Given the description of an element on the screen output the (x, y) to click on. 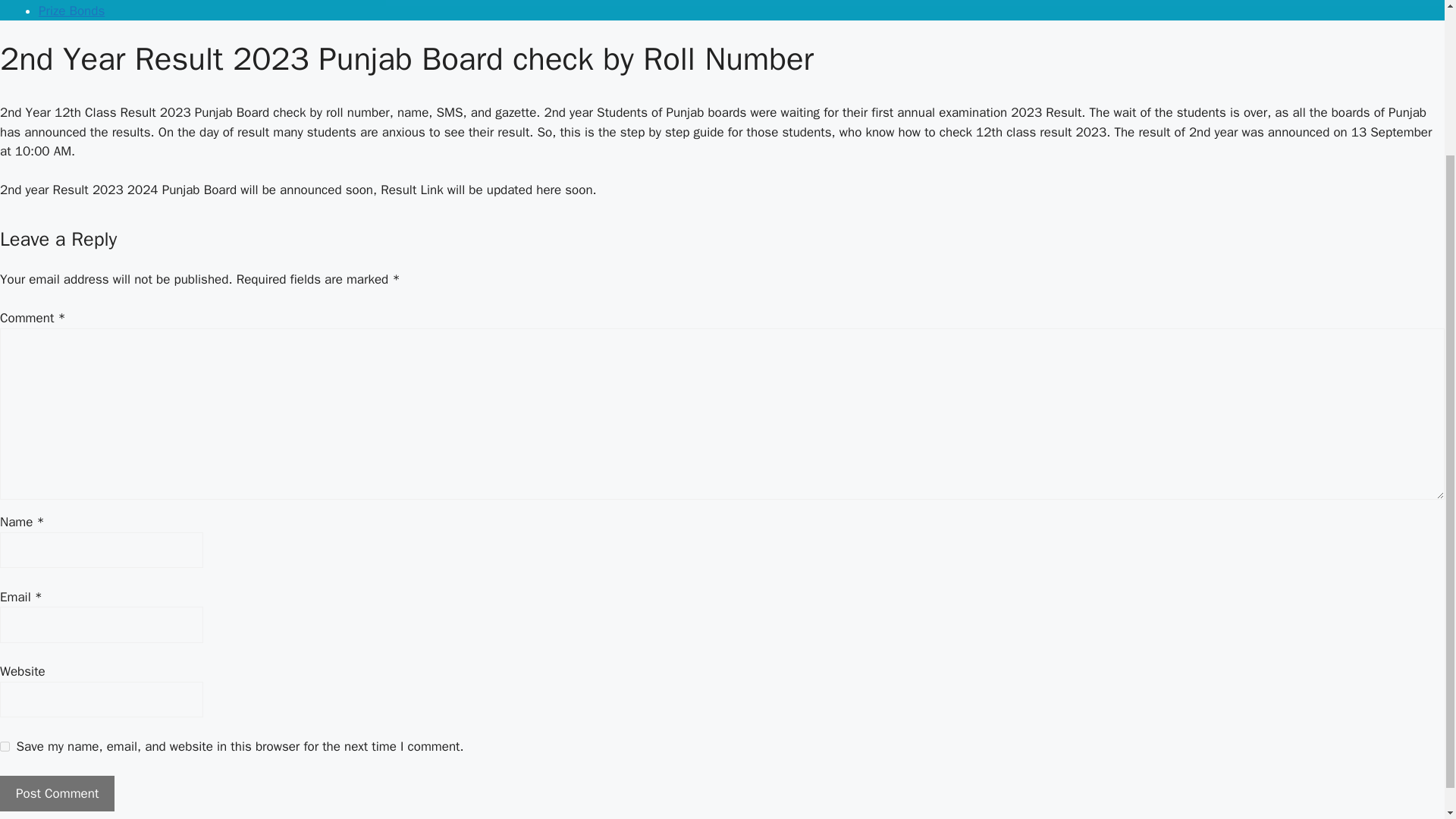
Post Comment (57, 793)
Post Comment (57, 793)
yes (5, 746)
Prize Bonds (71, 10)
